Given the description of an element on the screen output the (x, y) to click on. 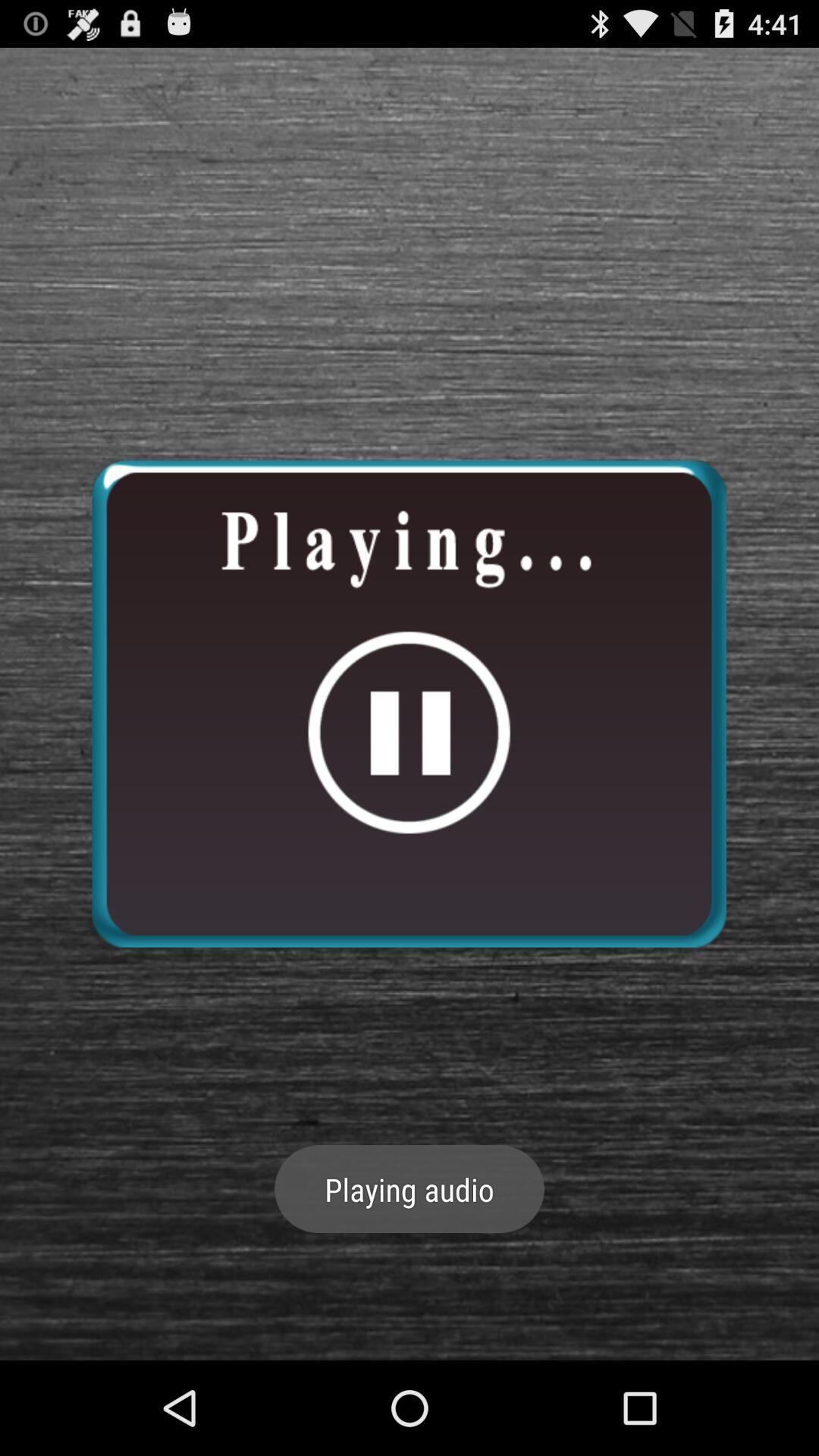
play option (409, 703)
